Given the description of an element on the screen output the (x, y) to click on. 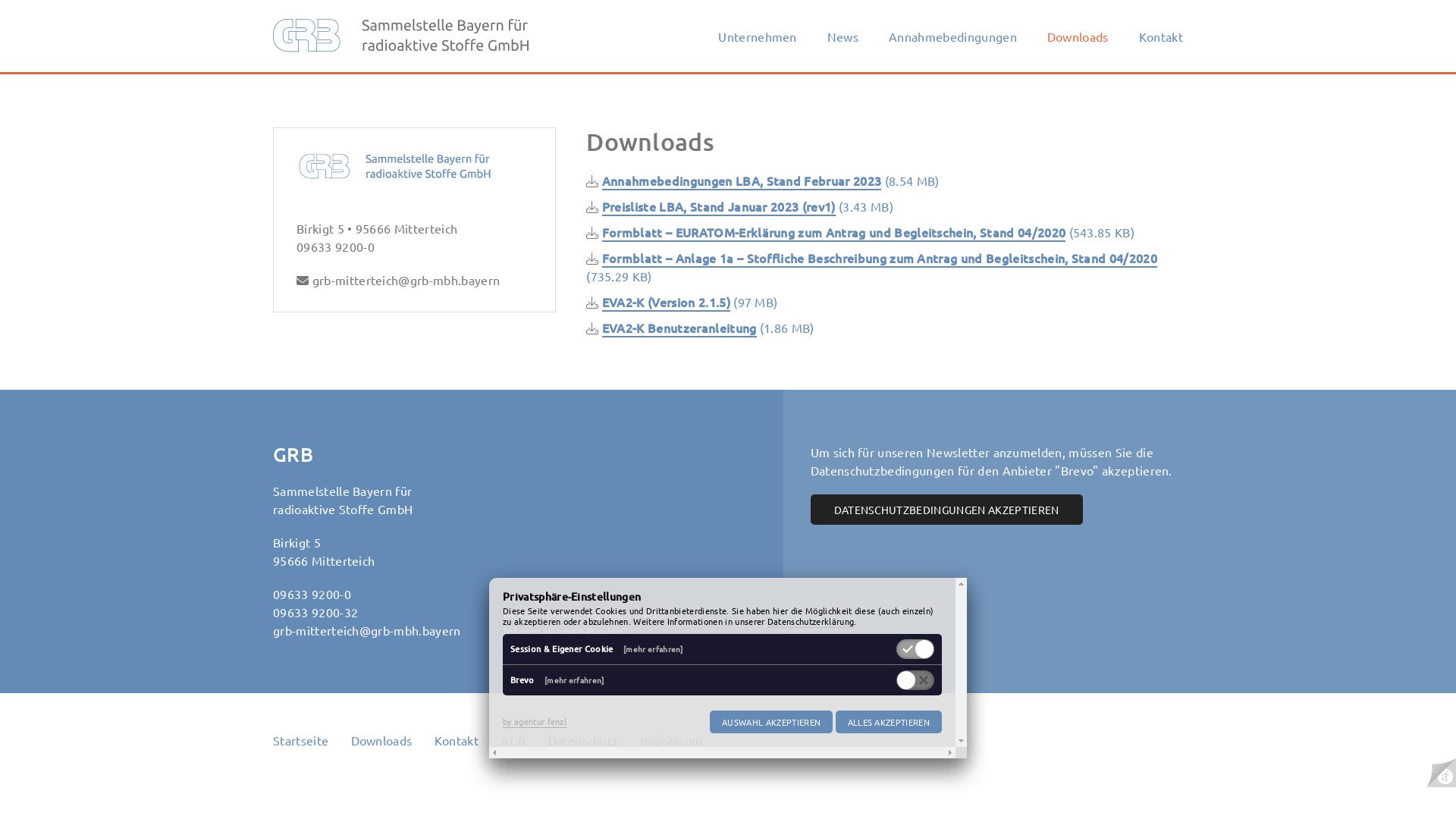
by agentur fenzl Element type: text (534, 721)
Annahmebedingungen Element type: text (952, 36)
Informationen BayUIG Element type: text (565, 630)
Bekanntmachung nach UVgO Element type: text (584, 612)
EVA2-K Benutzeranleitung (1.86 MB) Element type: text (700, 327)
ALLES AKZEPTIEREN Element type: text (888, 721)
Annahmebedingungen LBA, Stand Februar 2023 (8.54 MB) Element type: text (762, 180)
Downloads Element type: text (1077, 36)
News Element type: text (842, 36)
Kontakt Element type: text (1159, 36)
Preisliste LBA, Stand Januar 2023 (rev1) (3.43 MB) Element type: text (739, 205)
AUSWAHL AKZEPTIEREN Element type: text (770, 721)
AGB Element type: text (512, 739)
DATENSCHUTZBEDINGUNGEN AKZEPTIEREN Element type: text (946, 509)
Startseite Element type: text (300, 739)
grb-mitterteich@grb-mbh.bayern Element type: text (406, 279)
Unternehmen Element type: text (757, 36)
Impressum Element type: text (671, 739)
Datenschutz Element type: text (583, 739)
EVA2-K (Version 2.1.5) (97 MB) Element type: text (681, 301)
Downloads Element type: text (381, 739)
Kontakt Element type: text (456, 739)
